Given the description of an element on the screen output the (x, y) to click on. 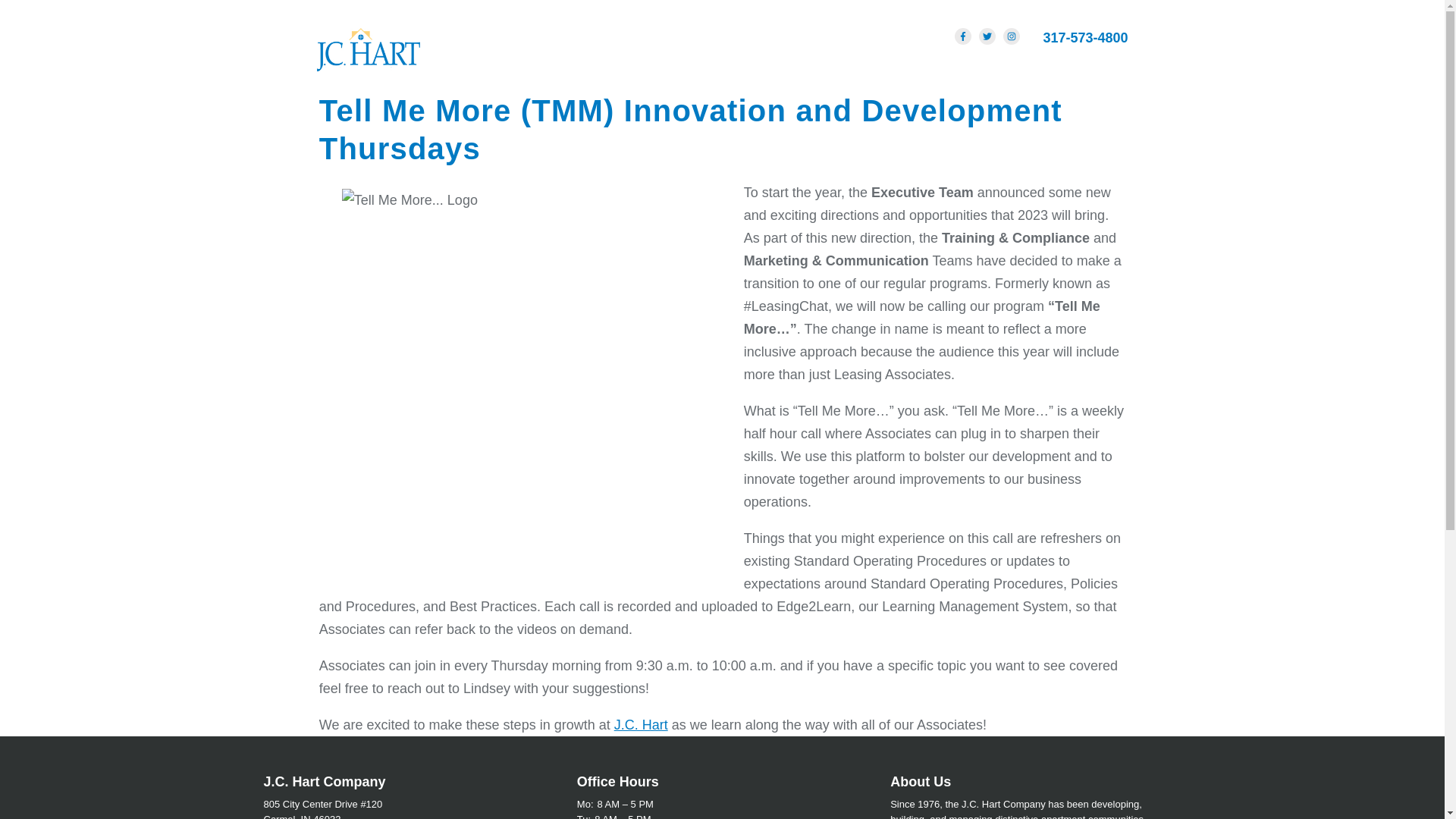
Like us on Facebook (963, 35)
FIND YOUR HOME (643, 66)
317-573-4800 (1084, 37)
J.C. Hart Home (368, 49)
Follow us on Twitter (986, 35)
Follow us on Instagram (1011, 35)
